Given the description of an element on the screen output the (x, y) to click on. 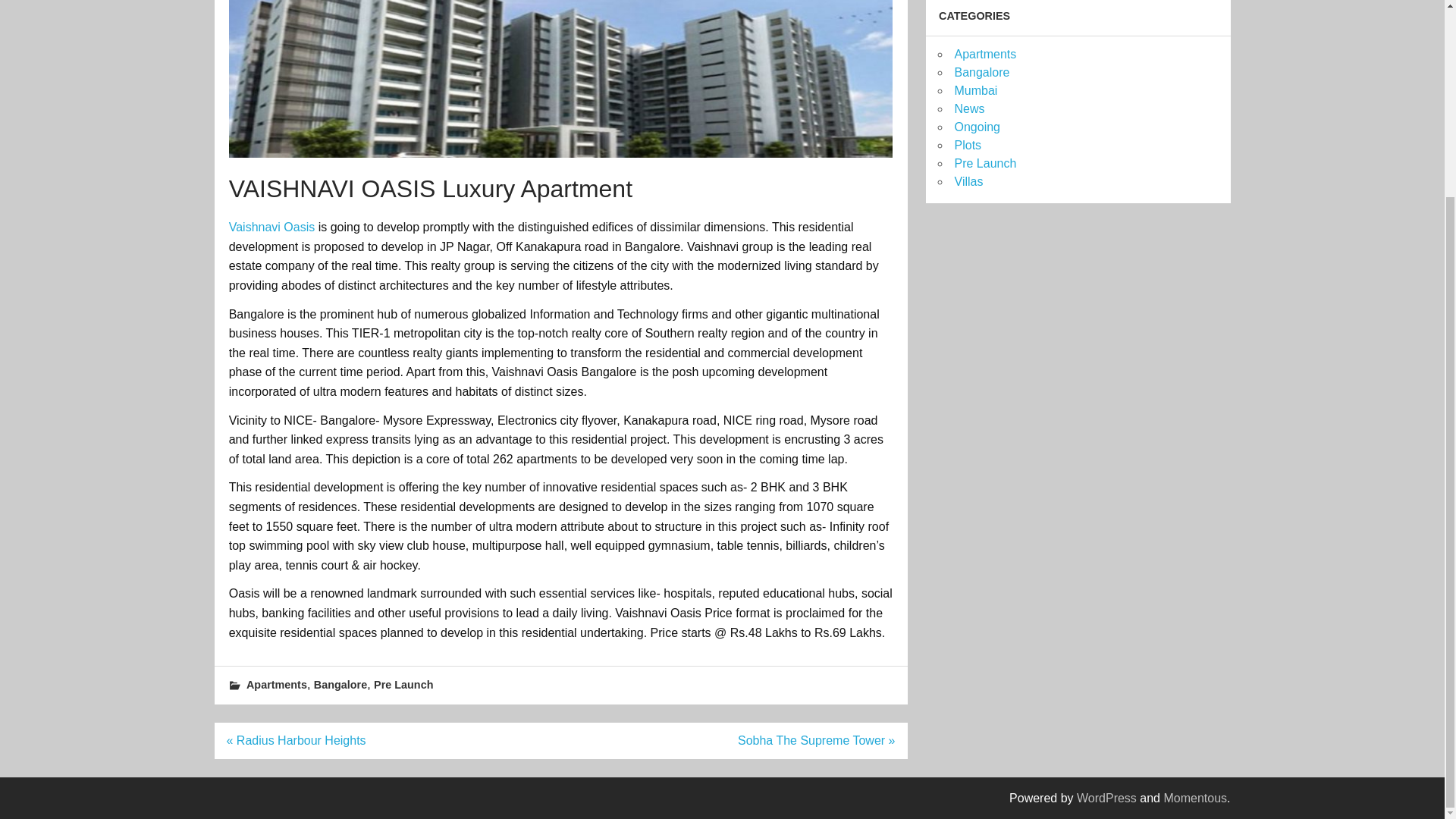
News (968, 108)
Bangalore (981, 72)
Pre Launch (984, 163)
Momentous WordPress Theme (1195, 797)
Ongoing (976, 126)
Plots (967, 144)
Bangalore (340, 684)
Apartments (276, 684)
Momentous (1195, 797)
Villas (967, 181)
